Given the description of an element on the screen output the (x, y) to click on. 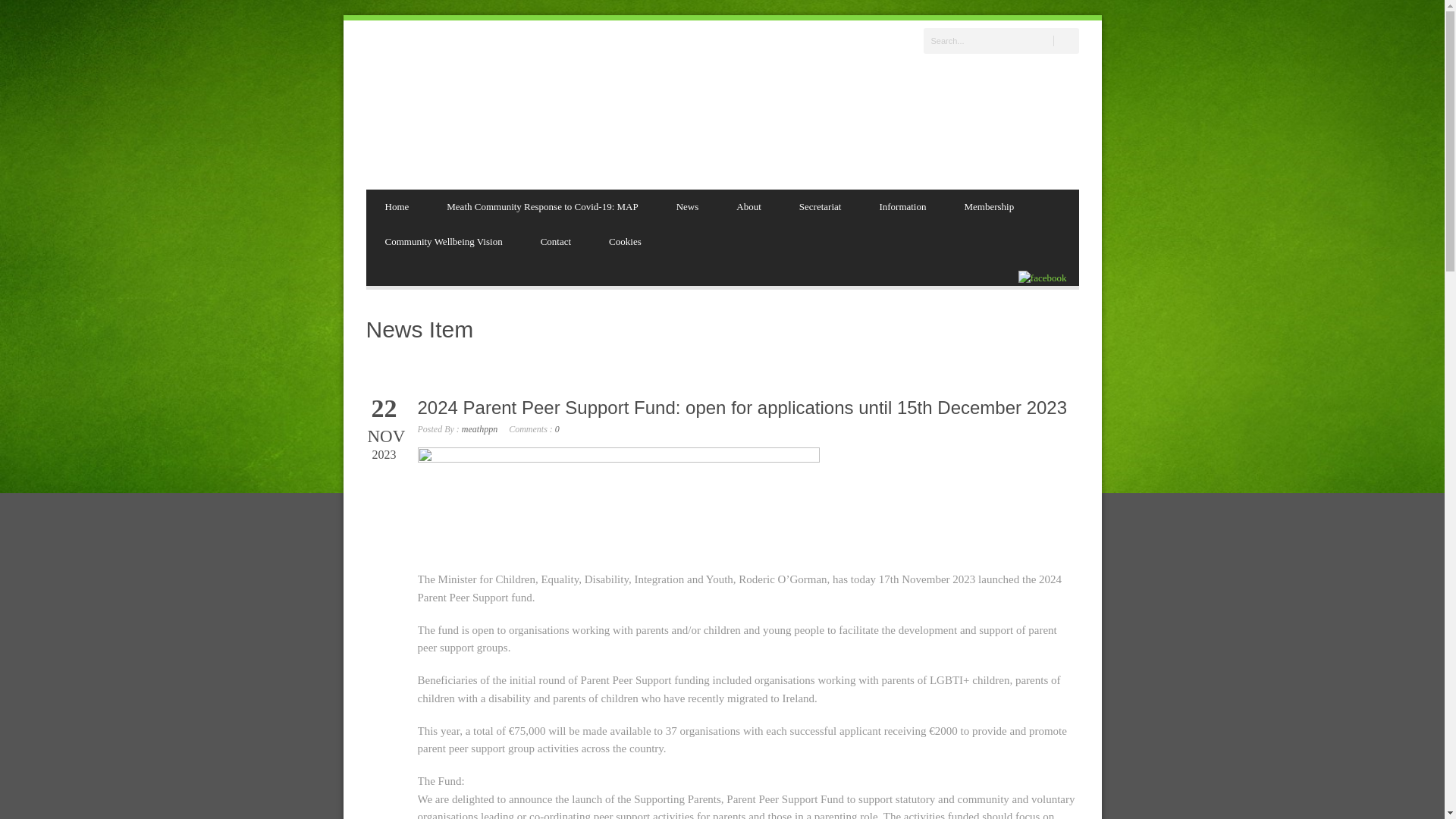
Community Wellbeing Vision (443, 241)
News (687, 206)
About (748, 206)
Search... (1000, 40)
Posts by meathppn (479, 429)
Contact (555, 241)
Secretariat (820, 206)
Home (396, 206)
Cookies (625, 241)
